Given the description of an element on the screen output the (x, y) to click on. 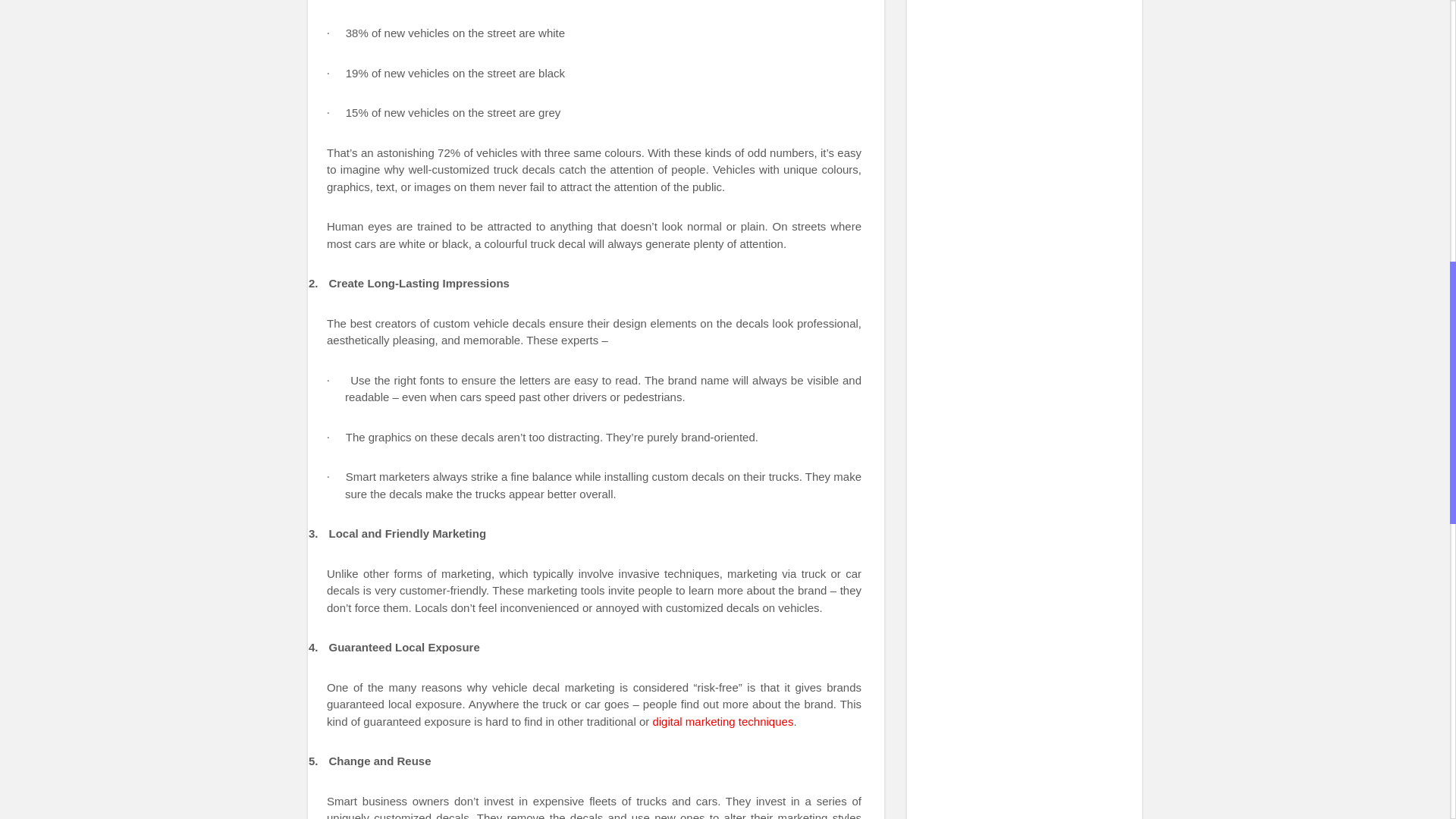
Scroll To Top (1427, 60)
digital marketing techniques (721, 721)
